Given the description of an element on the screen output the (x, y) to click on. 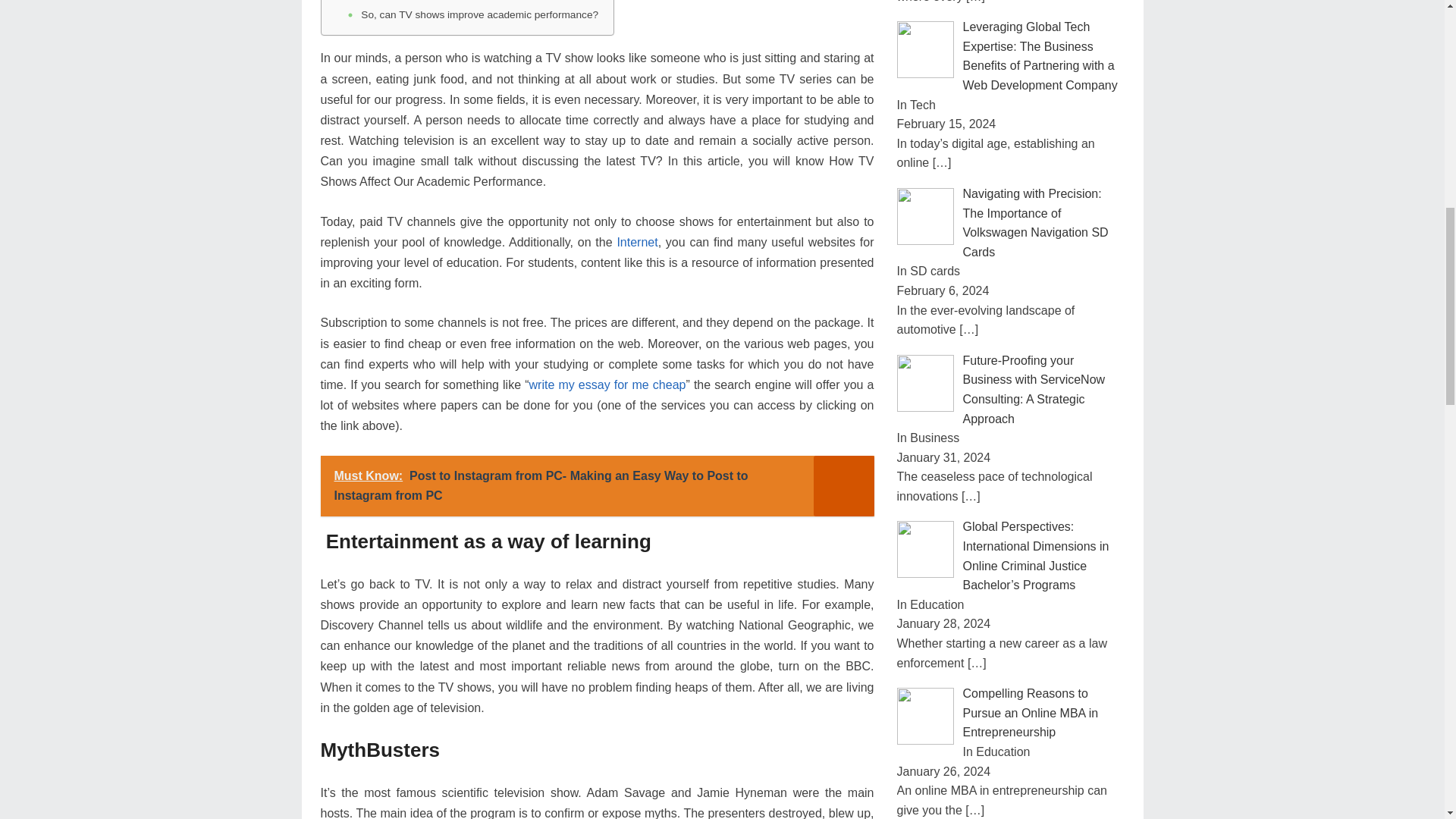
So, can TV shows improve academic performance? (479, 14)
So, can TV shows improve academic performance? (479, 14)
Internet (636, 241)
